Given the description of an element on the screen output the (x, y) to click on. 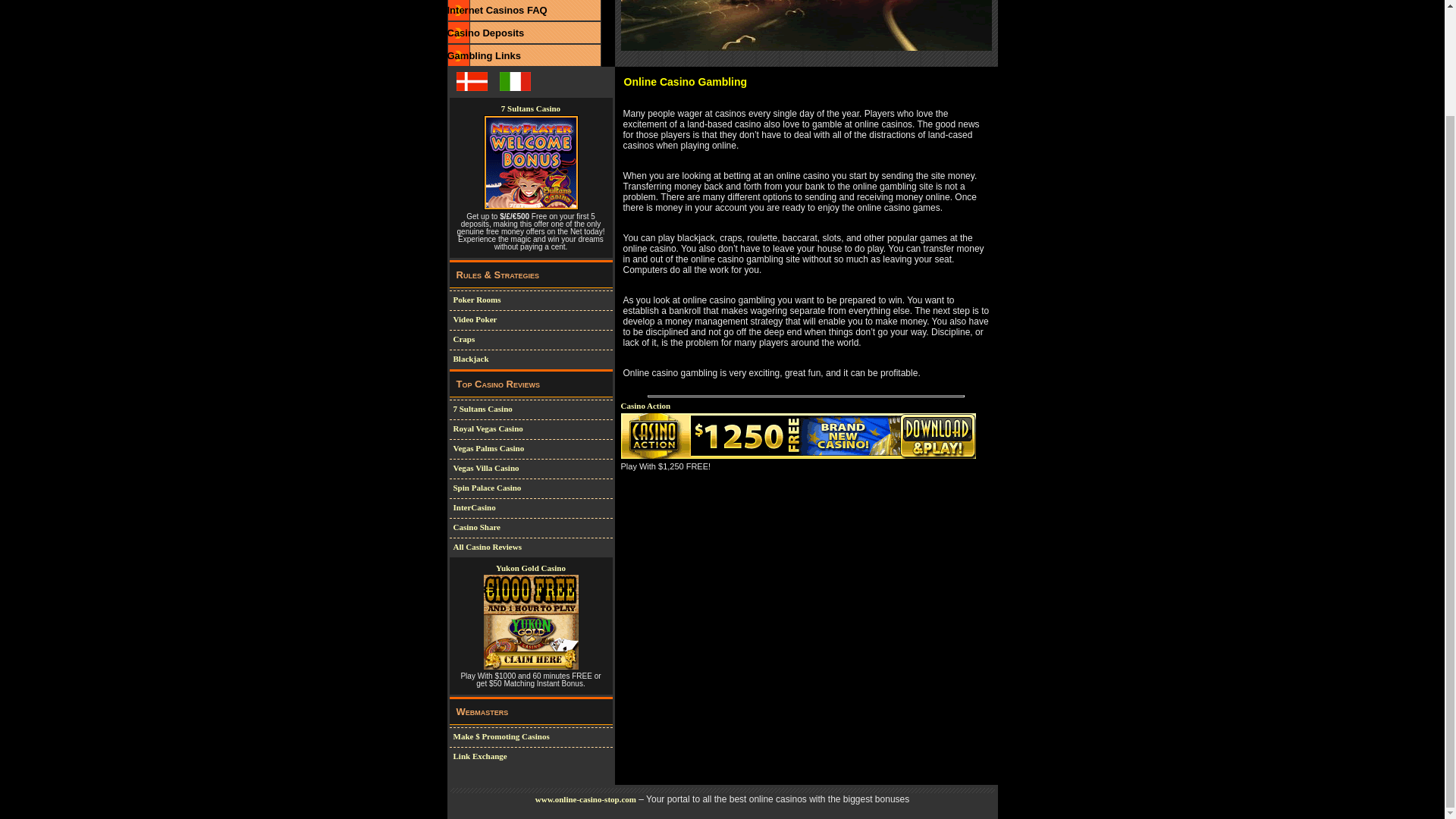
Royal Vegas Casino (487, 428)
www.online-casino-stop.com (585, 798)
Casino Deposits (485, 32)
Yukon Gold Casino (531, 567)
Poker Rooms (476, 298)
Online Casino Forum (483, 55)
Vegas Villa Casino (485, 467)
InterCasino (474, 506)
All Casino Reviews (486, 546)
Craps (464, 338)
7 Sultans Casino (482, 408)
frequently Asked Questions about Online Casino (496, 9)
Video Poker (474, 318)
7 Sultans Casino (530, 108)
Online Poker (476, 298)
